Given the description of an element on the screen output the (x, y) to click on. 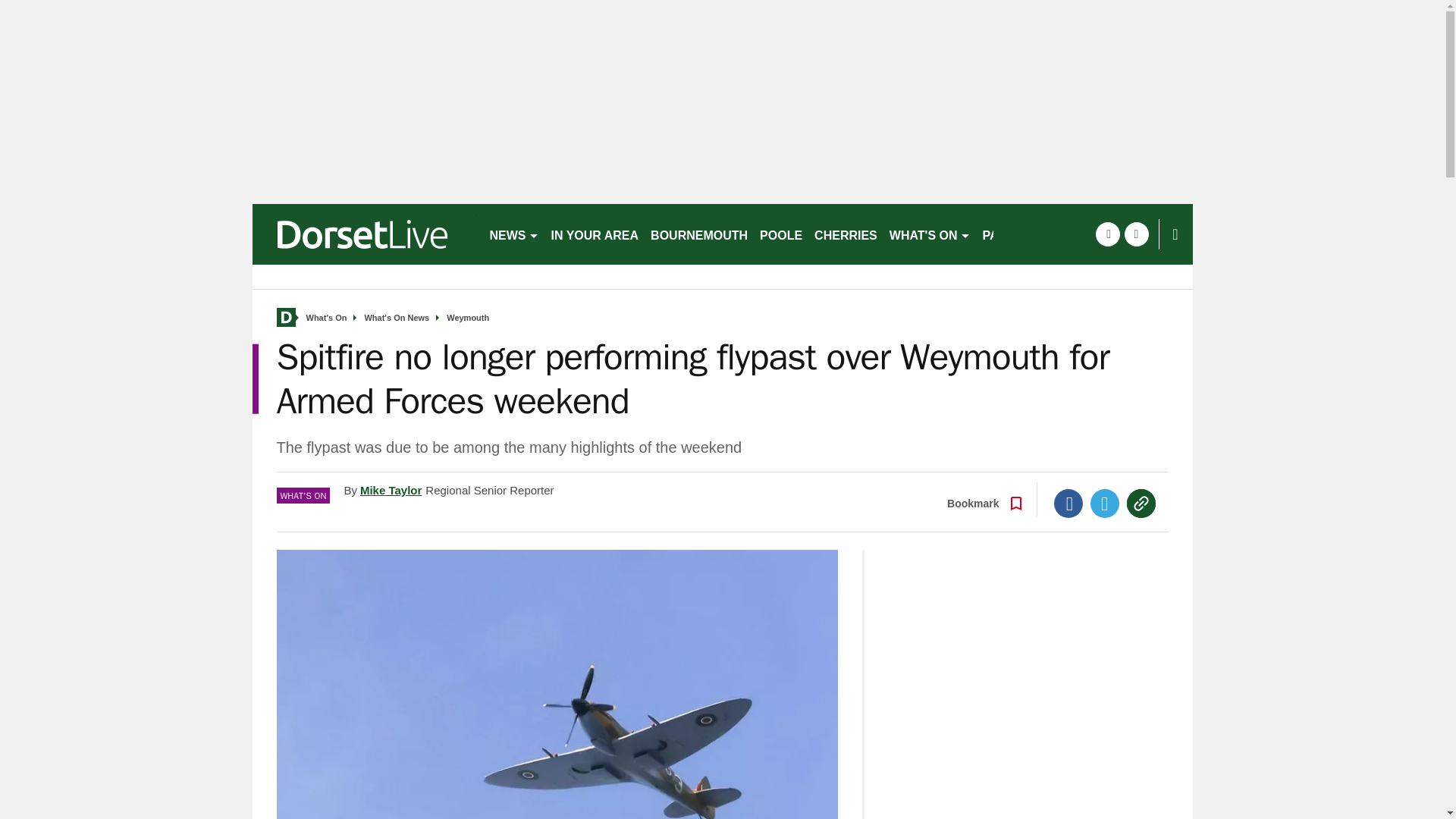
dorsetlive (363, 233)
BOURNEMOUTH (699, 233)
Facebook (1068, 502)
PARTNER STORIES (1039, 233)
IN YOUR AREA (594, 233)
WHAT'S ON (929, 233)
twitter (1136, 233)
CHERRIES (845, 233)
POOLE (781, 233)
facebook (1106, 233)
